Given the description of an element on the screen output the (x, y) to click on. 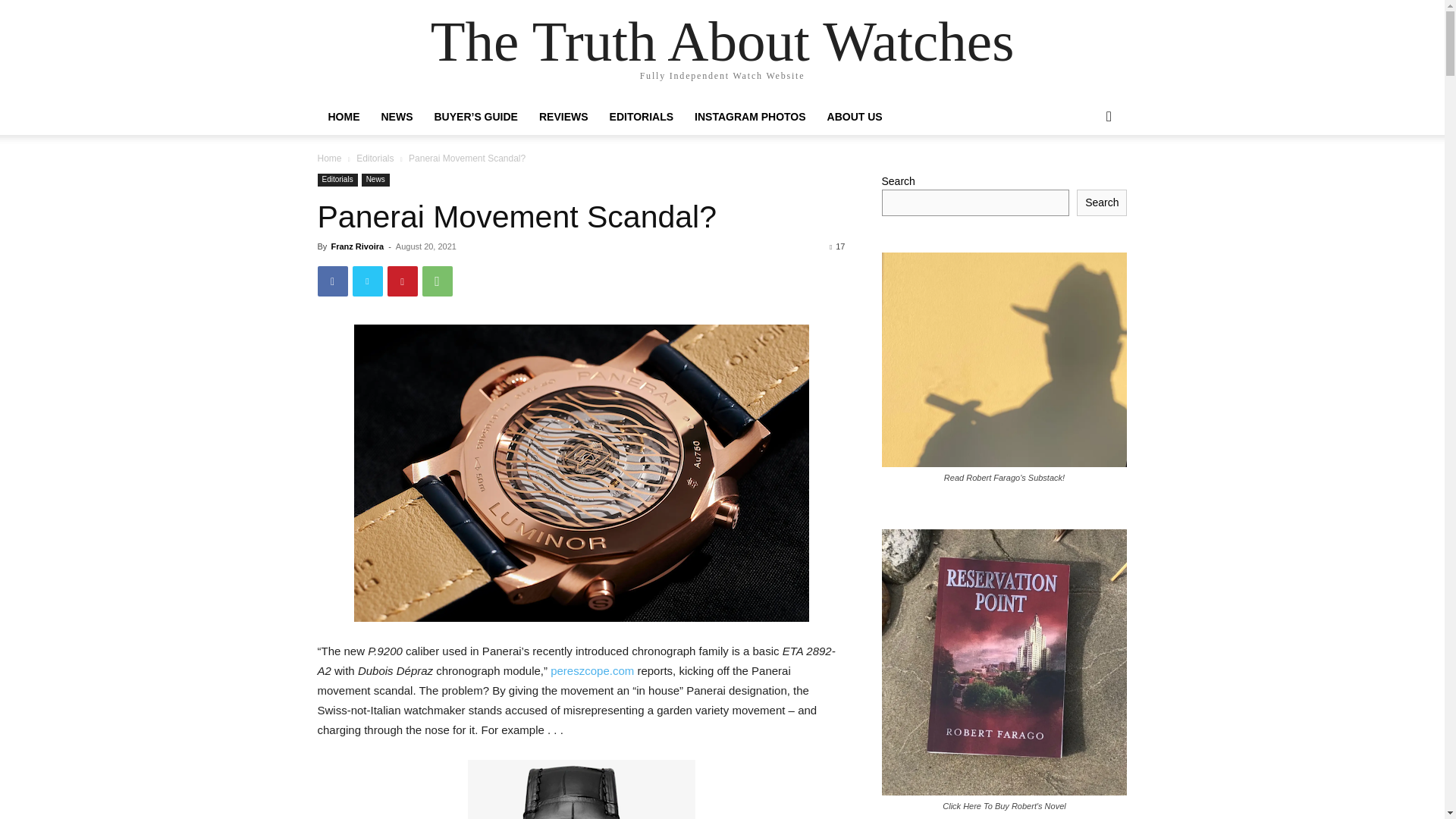
WhatsApp (436, 281)
View all posts in Editorials (374, 158)
NEWS (396, 116)
Twitter (366, 281)
HOME (343, 116)
Franz Rivoira (357, 245)
Pinterest (401, 281)
The Truth About Watches (722, 41)
EDITORIALS (641, 116)
Editorials (374, 158)
17 (837, 245)
Home (328, 158)
INSTAGRAM PHOTOS (750, 116)
Search (1085, 177)
ABOUT US (854, 116)
